Given the description of an element on the screen output the (x, y) to click on. 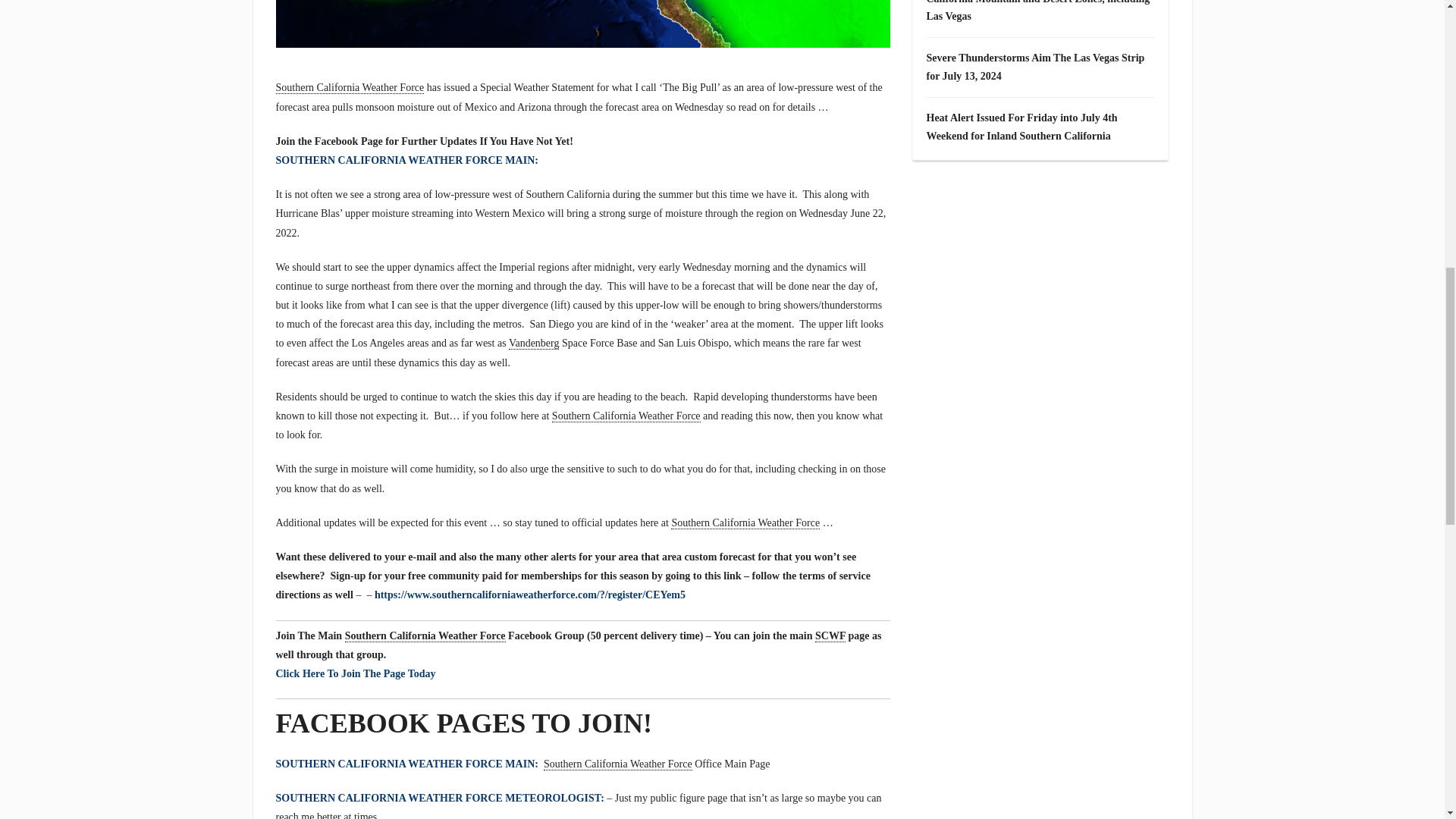
Southern California's Most Accurate Weather Service Office. (625, 416)
SOUTHERN CALIFORNIA WEATHER FORCE METEOROLOGIST: (440, 797)
Southern California's Most Accurate Weather Service Office. (350, 87)
Southern California's Most Accurate Weather Service Office. (745, 522)
SOUTHERN CALIFORNIA WEATHER FORCE MAIN: (407, 763)
Click Here To Join The Page Today (355, 673)
SOUTHERN CALIFORNIA WEATHER FORCE MAIN: (407, 160)
